Given the description of an element on the screen output the (x, y) to click on. 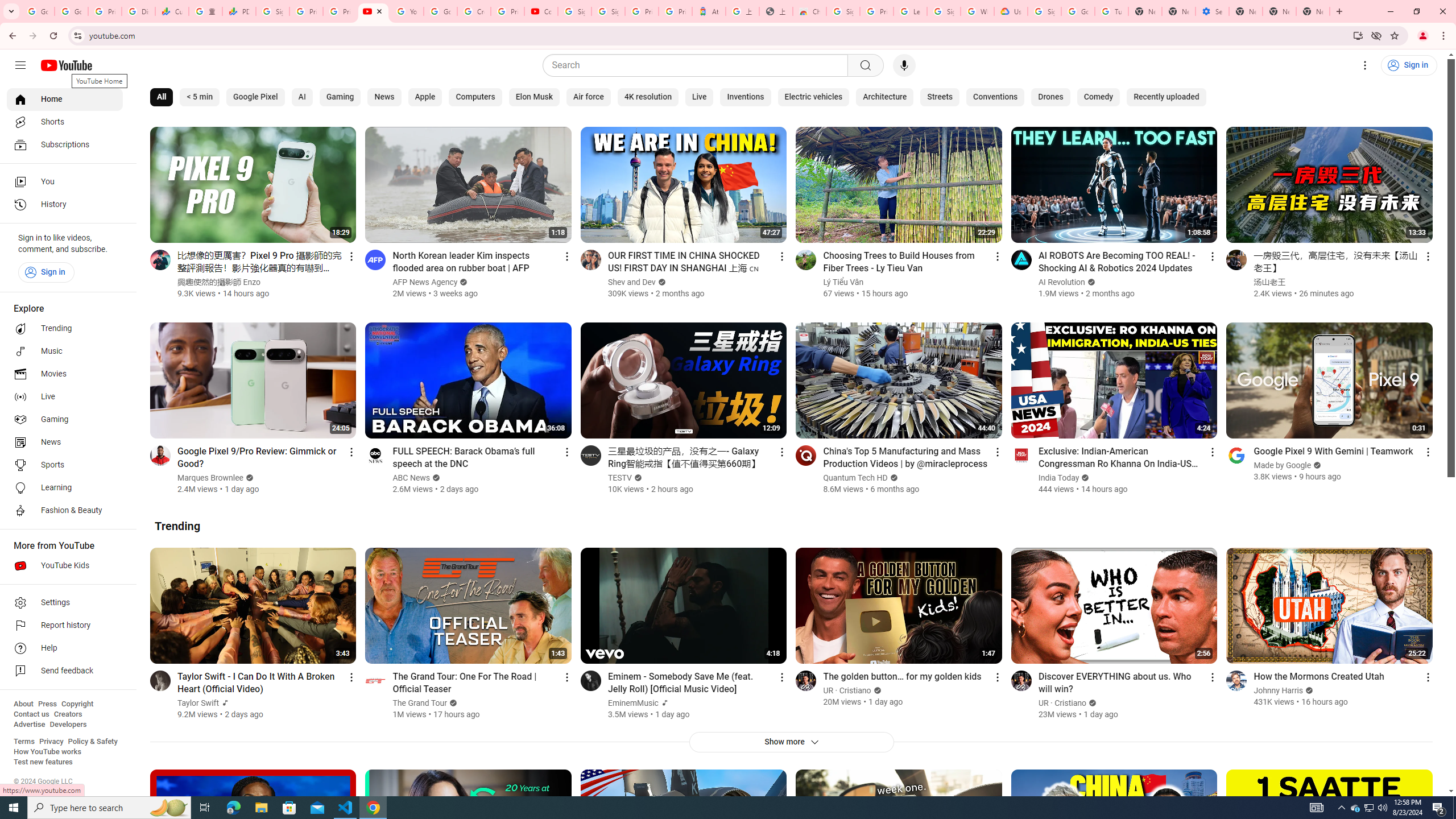
Air force (588, 97)
Trending (177, 525)
Architecture (885, 97)
4K resolution (647, 97)
Shev and Dev (631, 282)
History (64, 204)
Made by Google (1282, 465)
